Given the description of an element on the screen output the (x, y) to click on. 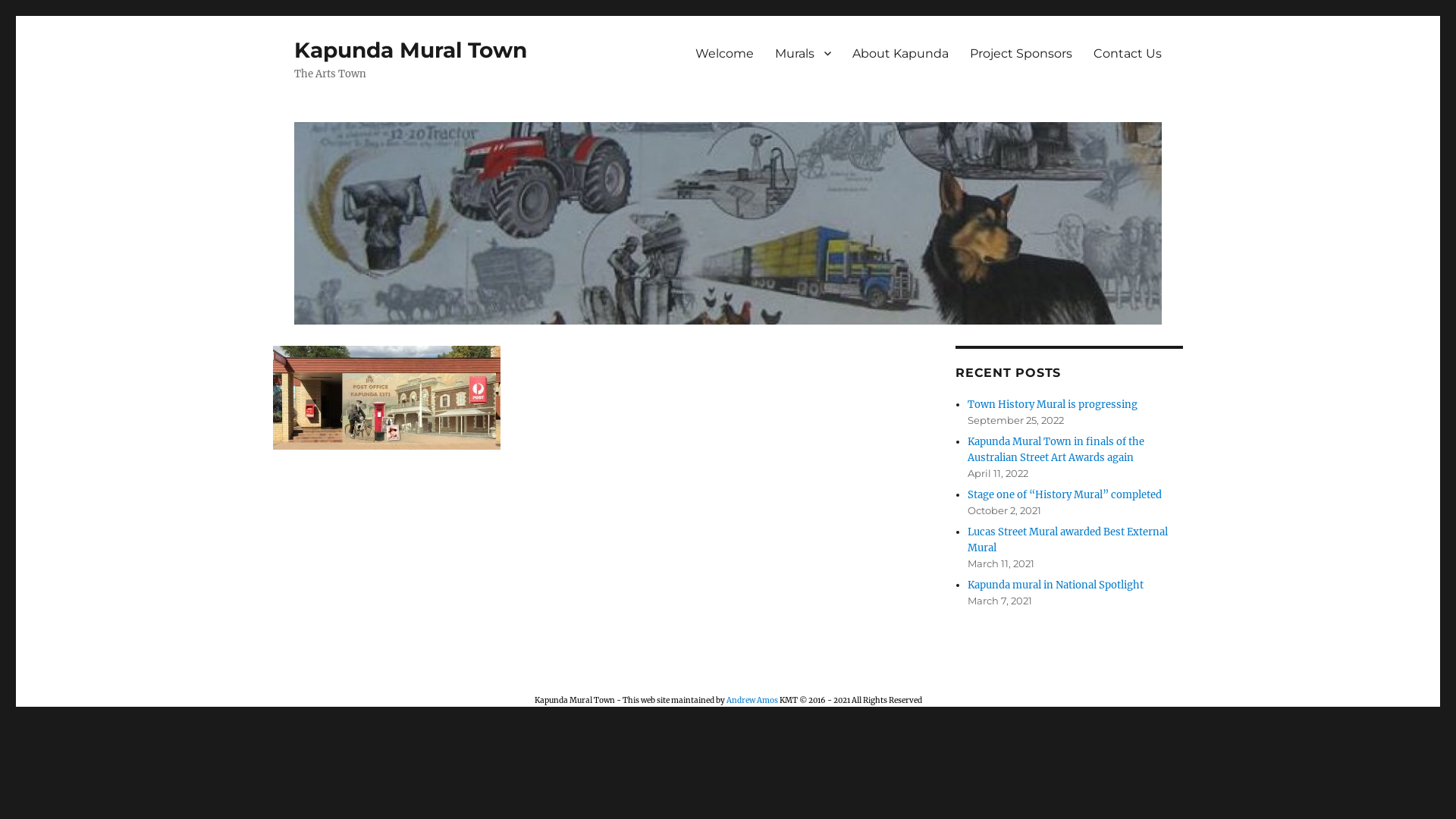
Town History Mural is progressing Element type: text (1052, 404)
Lucas Street Mural awarded Best External Mural Element type: text (1067, 539)
Project Sponsors Element type: text (1020, 53)
Kapunda mural in National Spotlight Element type: text (1055, 584)
Andrew Amos Element type: text (752, 700)
Contact Us Element type: text (1127, 53)
Kapunda Mural Town Element type: text (410, 49)
About Kapunda Element type: text (900, 53)
Welcome Element type: text (724, 53)
Murals Element type: text (802, 53)
